Given the description of an element on the screen output the (x, y) to click on. 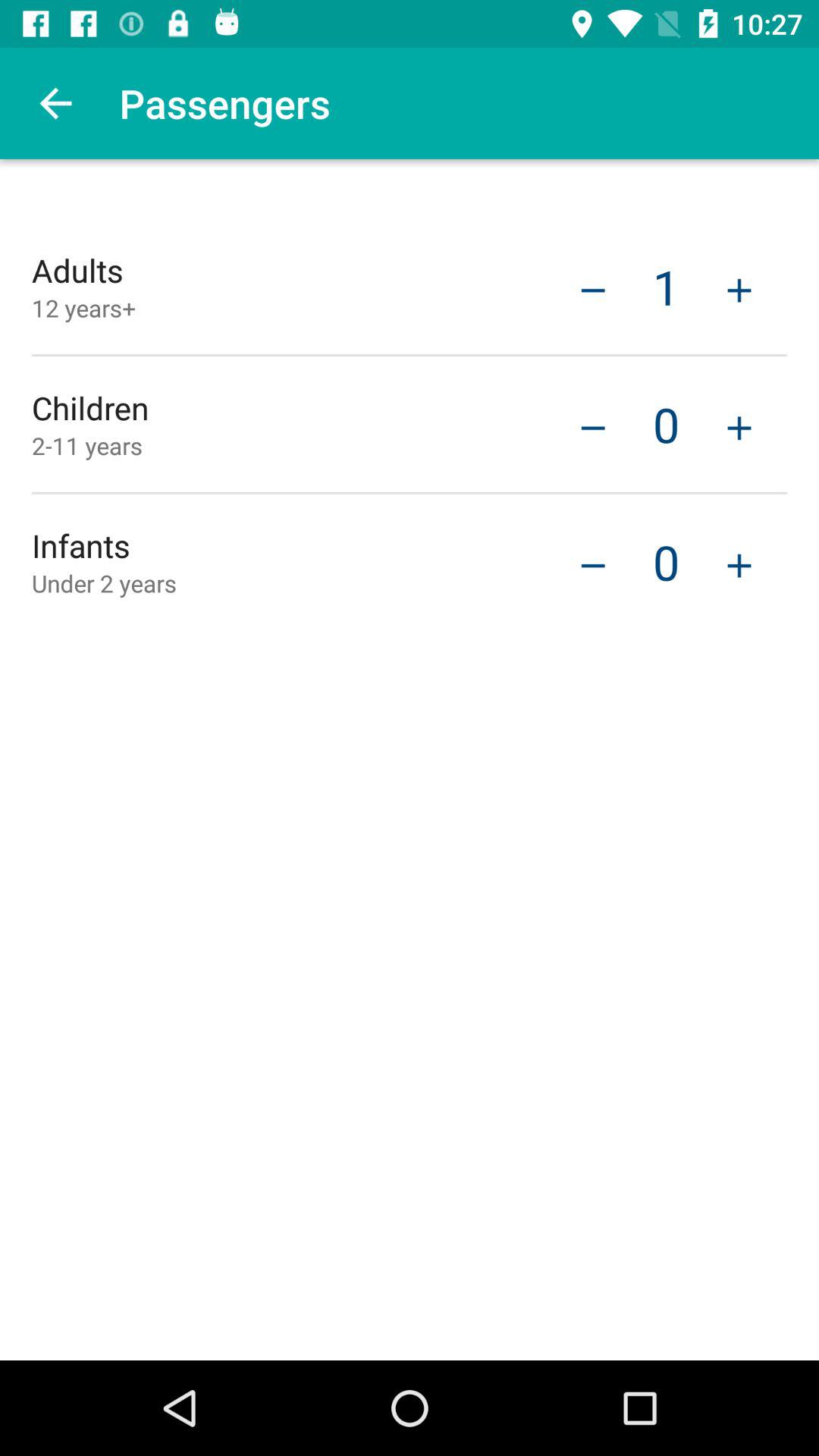
increase number (739, 563)
